Given the description of an element on the screen output the (x, y) to click on. 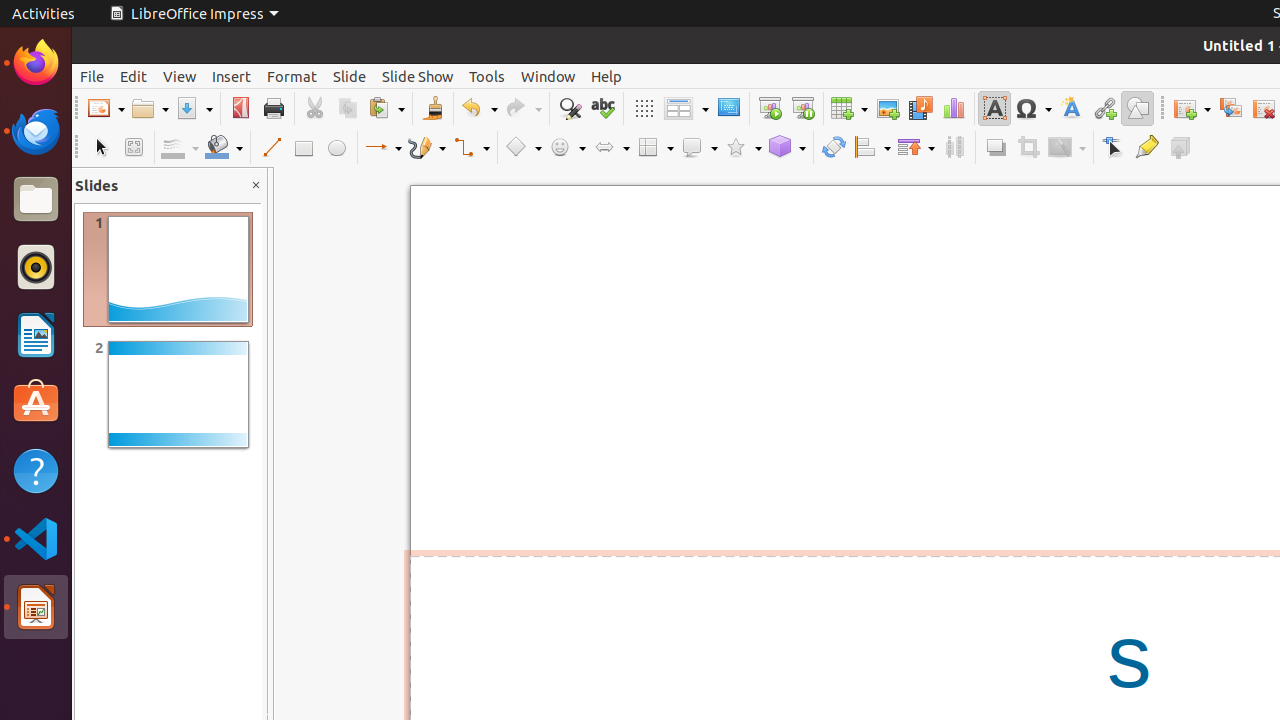
Copy Element type: push-button (347, 108)
Rotate Element type: push-button (833, 147)
View Element type: menu (179, 76)
Chart Element type: push-button (953, 108)
Hyperlink Element type: toggle-button (1104, 108)
